Given the description of an element on the screen output the (x, y) to click on. 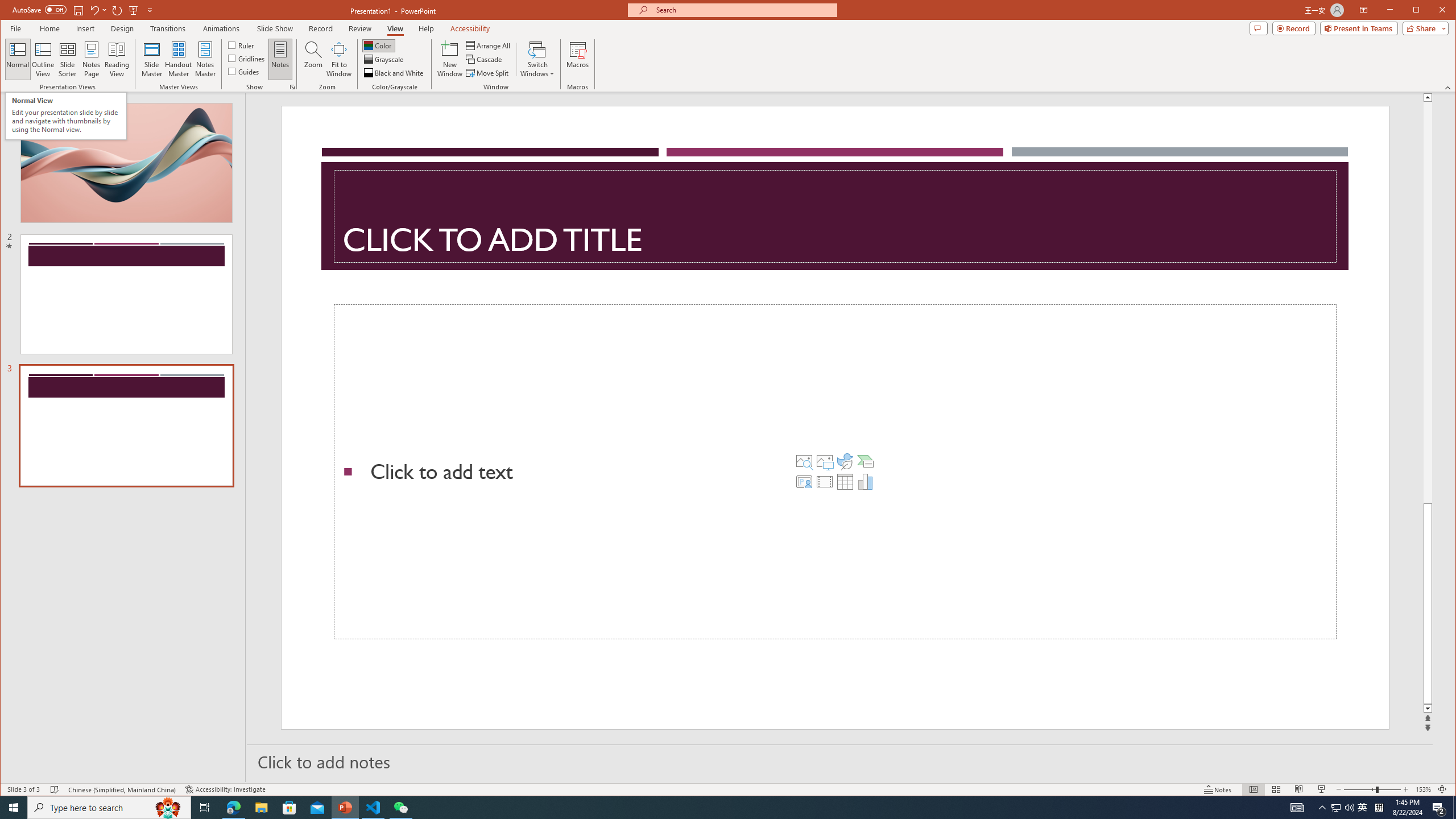
Gridlines (246, 57)
Notes Page (91, 59)
Handout Master (178, 59)
